Given the description of an element on the screen output the (x, y) to click on. 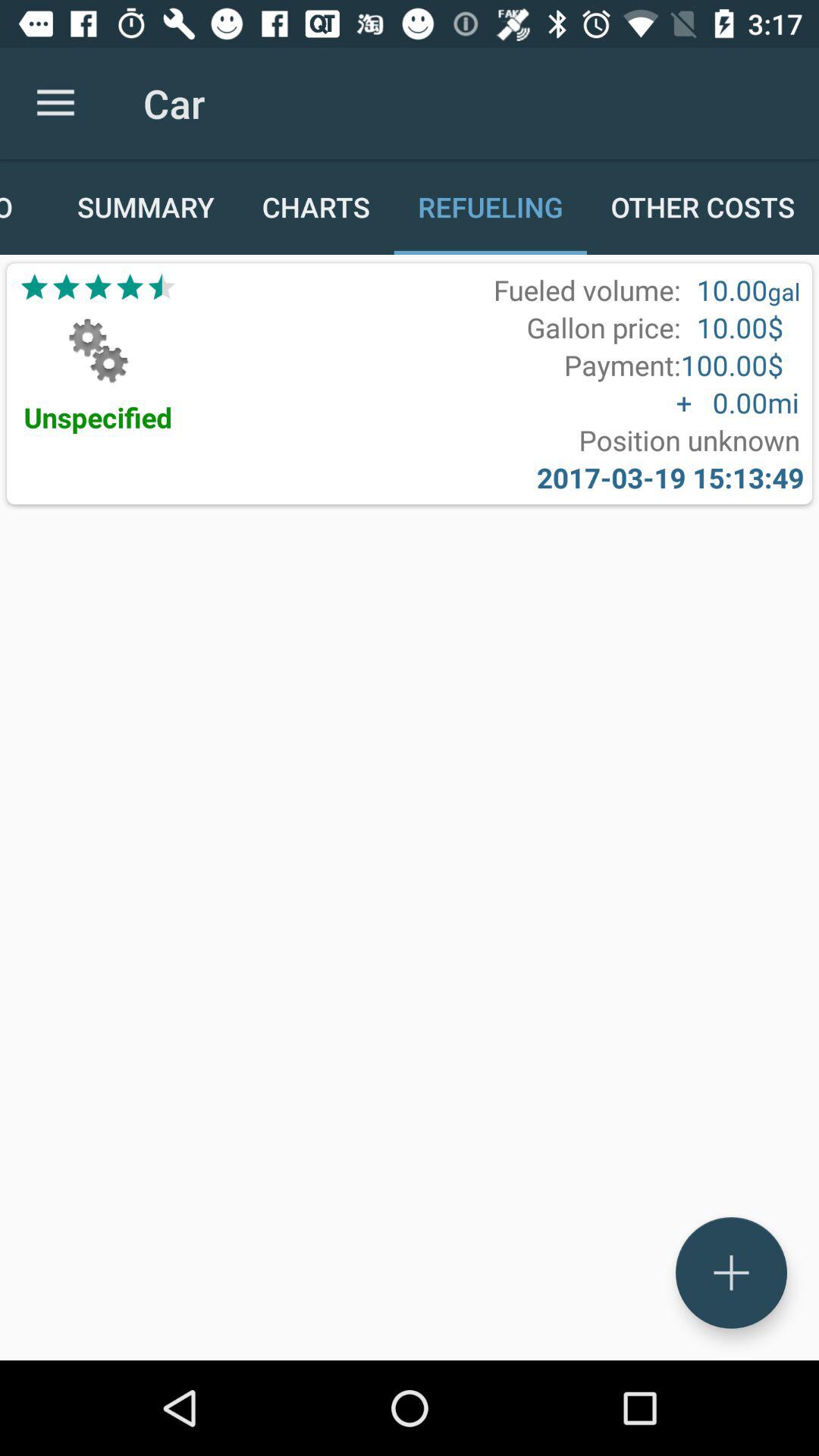
turn on gallon price: icon (603, 327)
